Given the description of an element on the screen output the (x, y) to click on. 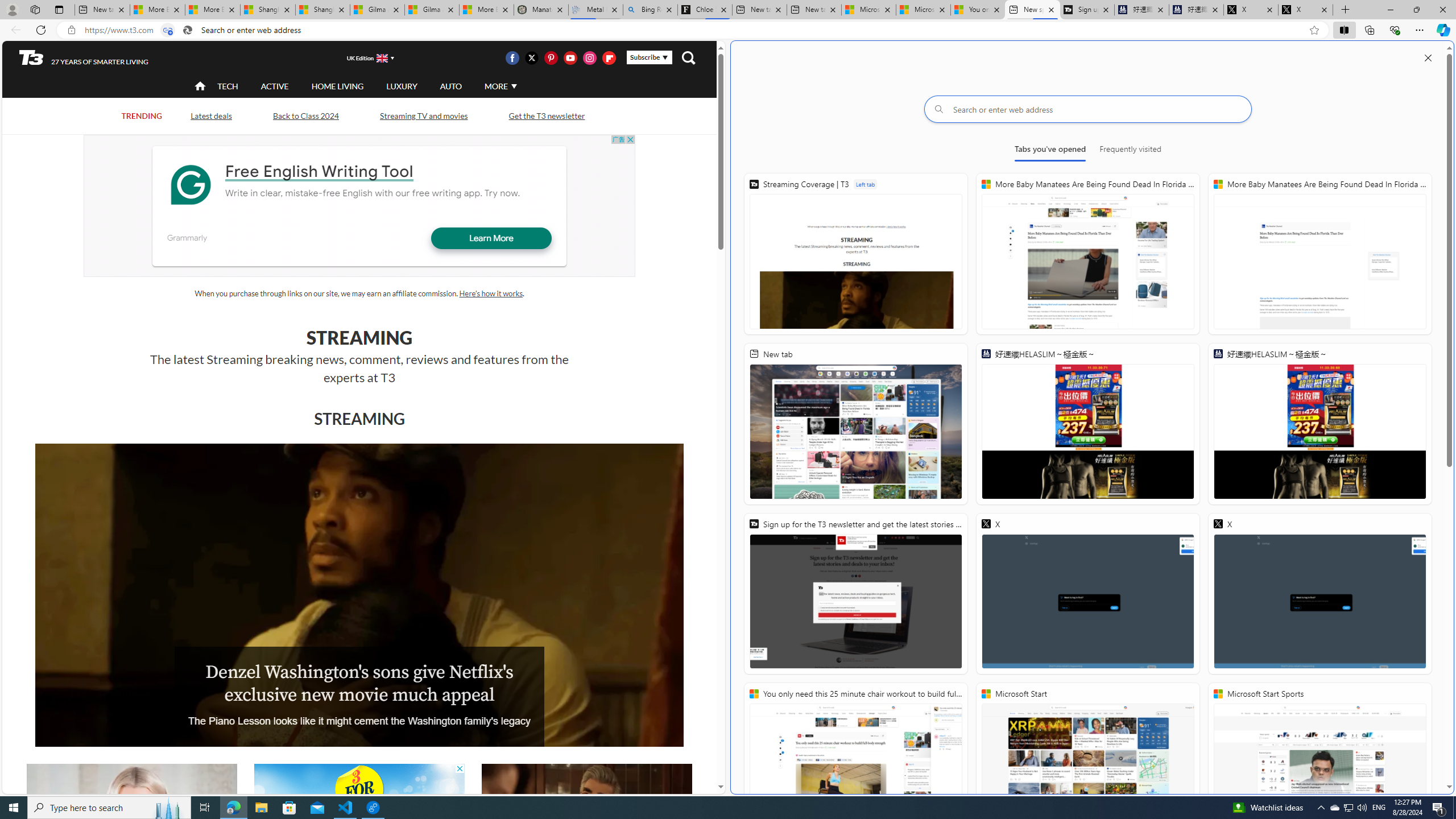
ACTIVE (274, 85)
TECH (227, 85)
Streaming TV and movies (423, 115)
Tabs in split screen (167, 29)
Streaming TV and movies (423, 115)
Visit us on Twitter (531, 57)
HOME LIVING (337, 86)
The Piano Lesson (359, 594)
